Given the description of an element on the screen output the (x, y) to click on. 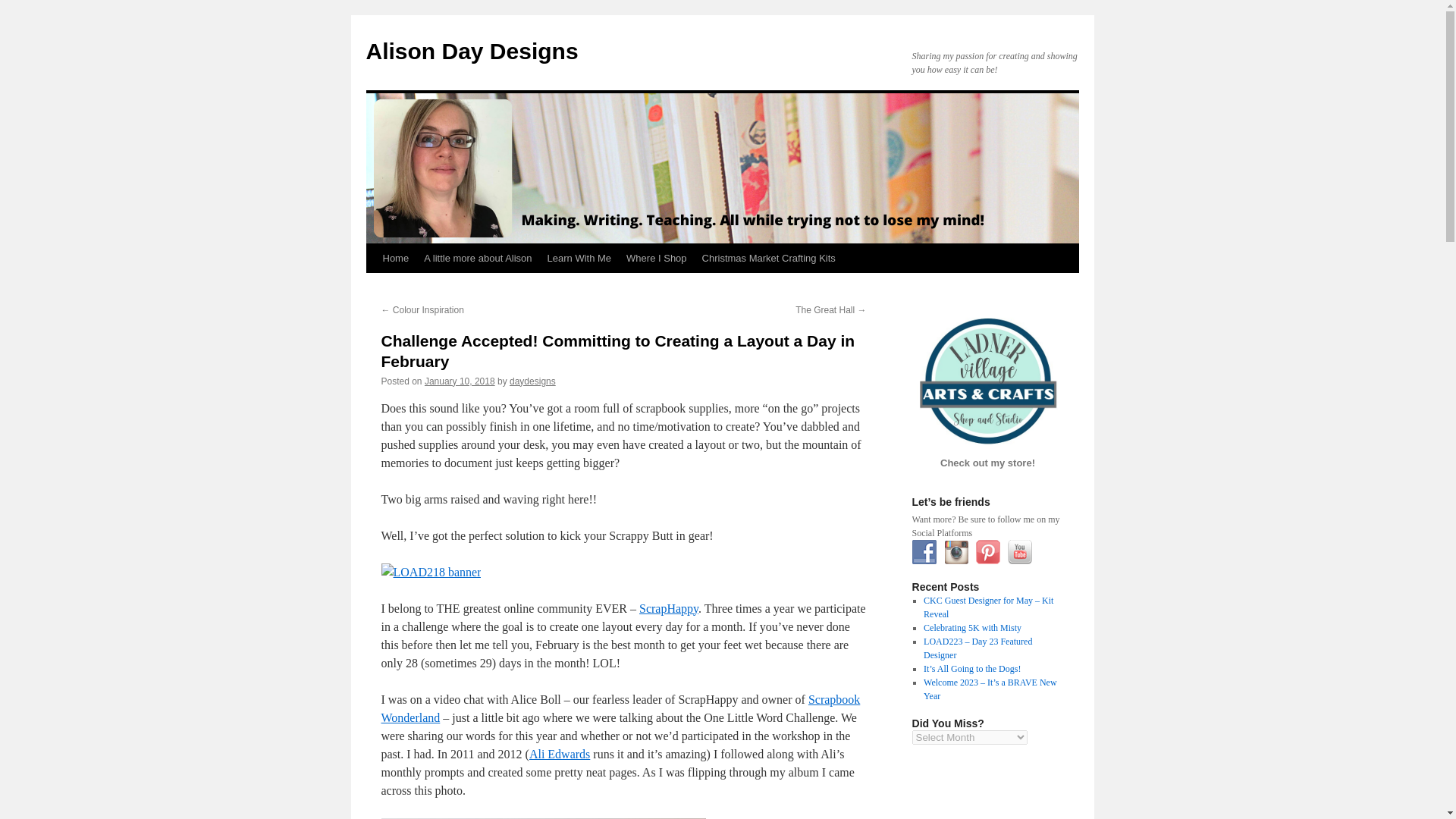
A little more about Alison (477, 258)
Home (395, 258)
Where I Shop (656, 258)
daydesigns (532, 380)
Celebrating 5K with Misty (972, 627)
Learn With Me (580, 258)
12:07 PM (460, 380)
Follow Me on Facebook (923, 551)
January 10, 2018 (460, 380)
Skip to content (372, 286)
Skip to content (372, 286)
Follow Me on Instagram (955, 551)
Follow Me on YouTube (1018, 551)
Scrapbook Wonderland (620, 707)
Follow Me on Pinterest (986, 551)
